Given the description of an element on the screen output the (x, y) to click on. 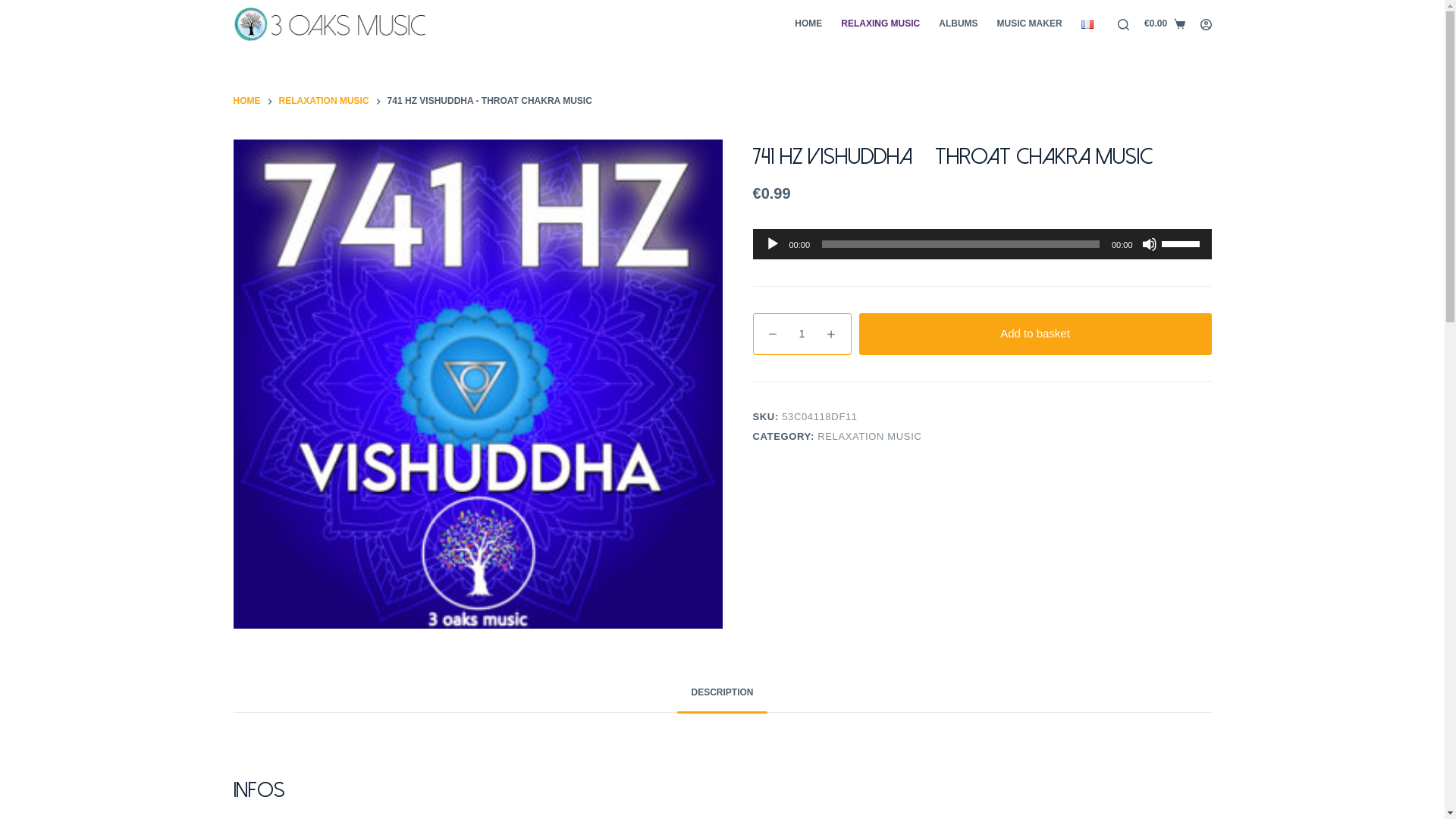
RELAXATION MUSIC Element type: text (324, 101)
HOME Element type: text (246, 101)
Skip to content Element type: text (15, 7)
Mute Element type: hover (1149, 243)
741hz-Vishuddha-300x300 Element type: hover (477, 383)
MUSIC MAKER Element type: text (1029, 24)
Use Up/Down Arrow keys to increase or decrease volume. Element type: text (1182, 242)
HOME Element type: text (808, 24)
Add to basket Element type: text (1034, 333)
RELAXATION MUSIC Element type: text (869, 436)
RELAXING MUSIC Element type: text (880, 24)
Play Element type: hover (771, 243)
ALBUMS Element type: text (958, 24)
DESCRIPTION Element type: text (721, 693)
